Given the description of an element on the screen output the (x, y) to click on. 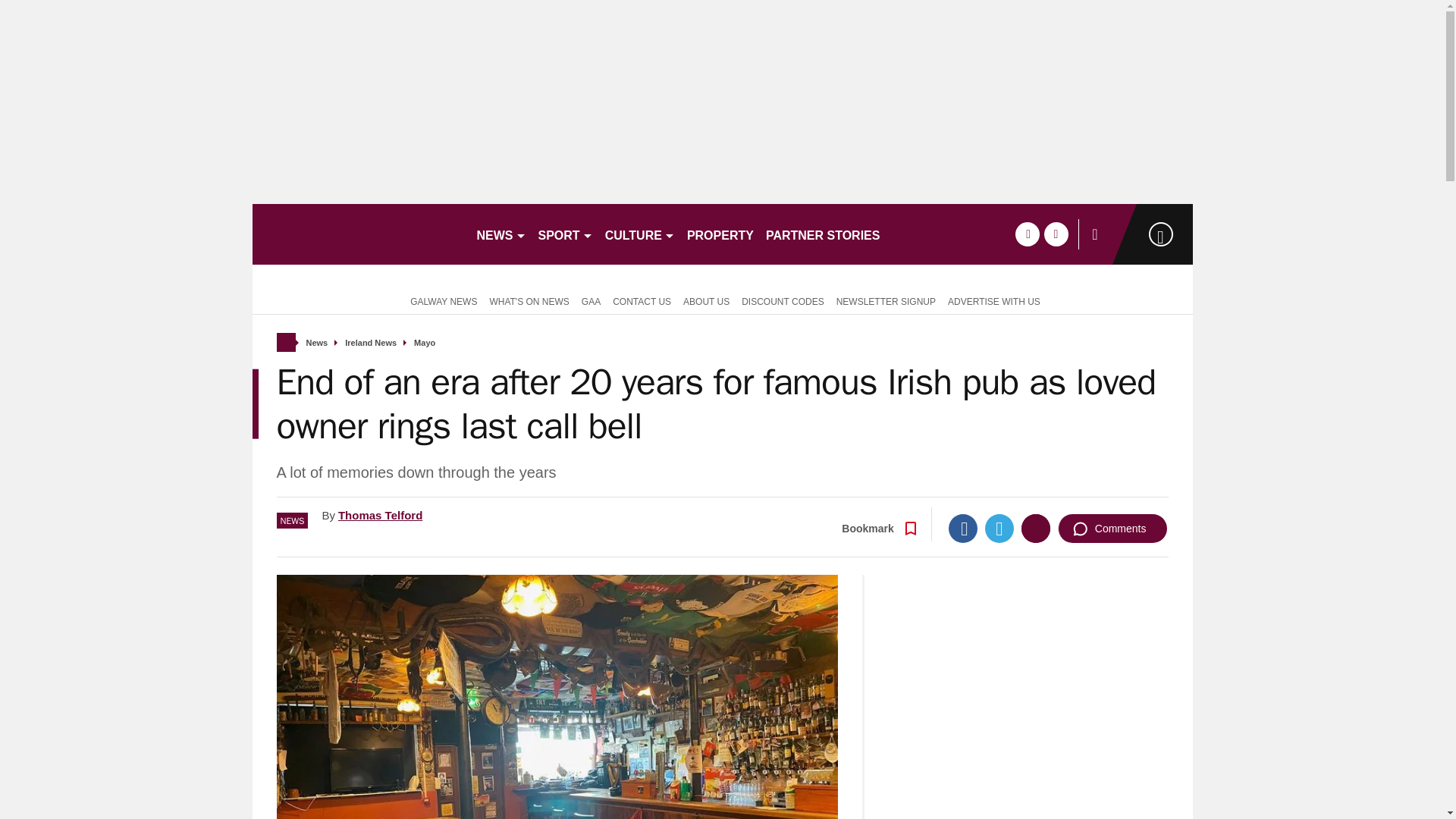
GALWAY NEWS (440, 300)
twitter (1055, 233)
NEWSLETTER SIGNUP (885, 300)
Facebook (962, 528)
WHAT'S ON NEWS (529, 300)
facebook (1026, 233)
ADVERTISE WITH US (994, 300)
ABOUT US (706, 300)
Twitter (999, 528)
Mayo (424, 343)
CULTURE (639, 233)
SPORT (565, 233)
DISCOUNT CODES (782, 300)
NEWS (500, 233)
PARTNER STORIES (823, 233)
